Given the description of an element on the screen output the (x, y) to click on. 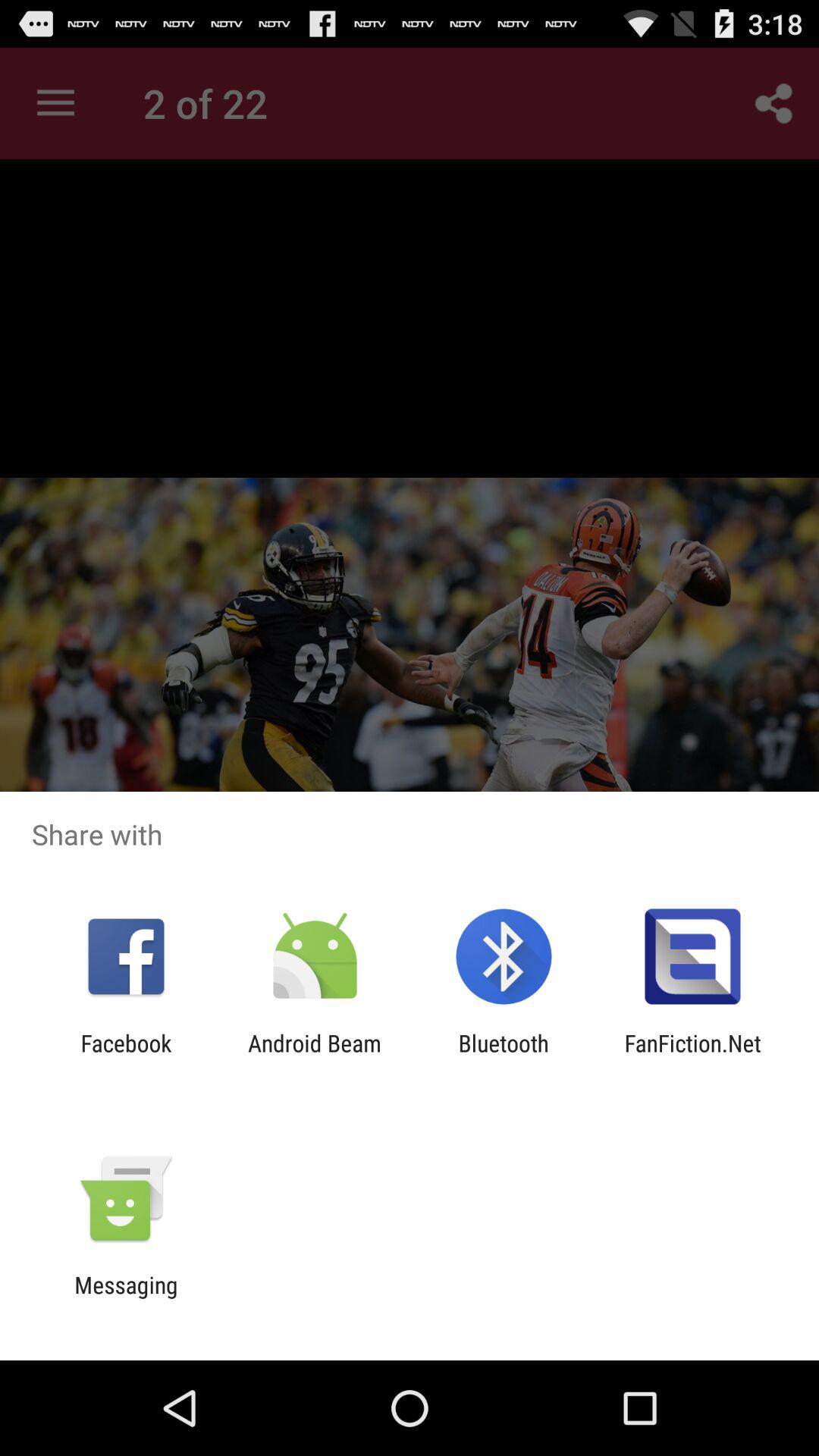
click item next to the bluetooth item (314, 1056)
